Given the description of an element on the screen output the (x, y) to click on. 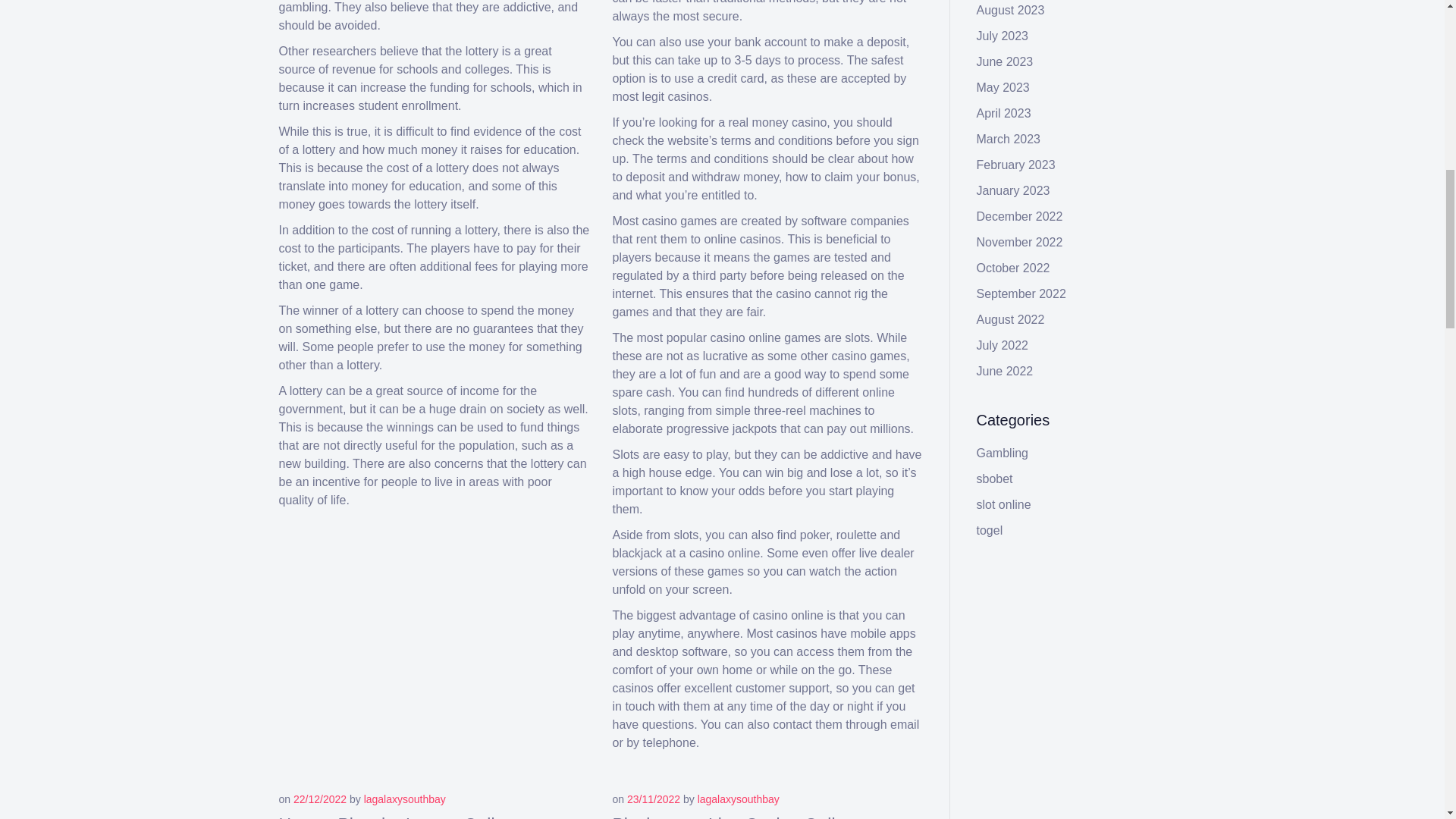
lagalaxysouthbay (737, 799)
How to Play the Lottery Online (397, 816)
Playing at a Live Casino Online (734, 816)
lagalaxysouthbay (404, 799)
